Given the description of an element on the screen output the (x, y) to click on. 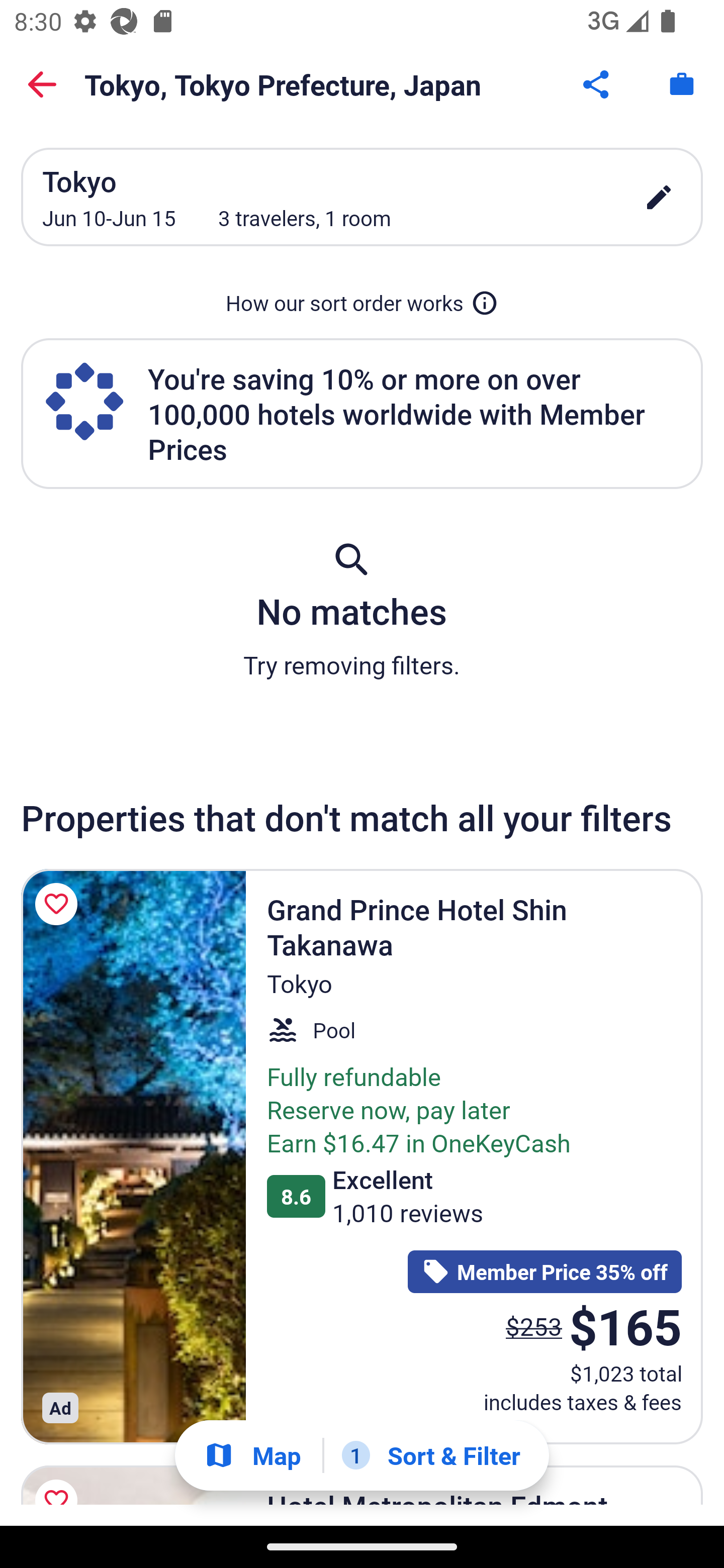
Back (42, 84)
Share Button (597, 84)
Trips. Button (681, 84)
Tokyo Jun 10-Jun 15 3 travelers, 1 room edit (361, 196)
How our sort order works (361, 303)
Save Grand Prince Hotel Shin Takanawa to a trip (59, 904)
Grand Prince Hotel Shin Takanawa (133, 1156)
$253 The price was $253 (533, 1326)
1 Sort & Filter 1 Filter applied. Filters Button (430, 1455)
Show map Map Show map Button (252, 1455)
